Given the description of an element on the screen output the (x, y) to click on. 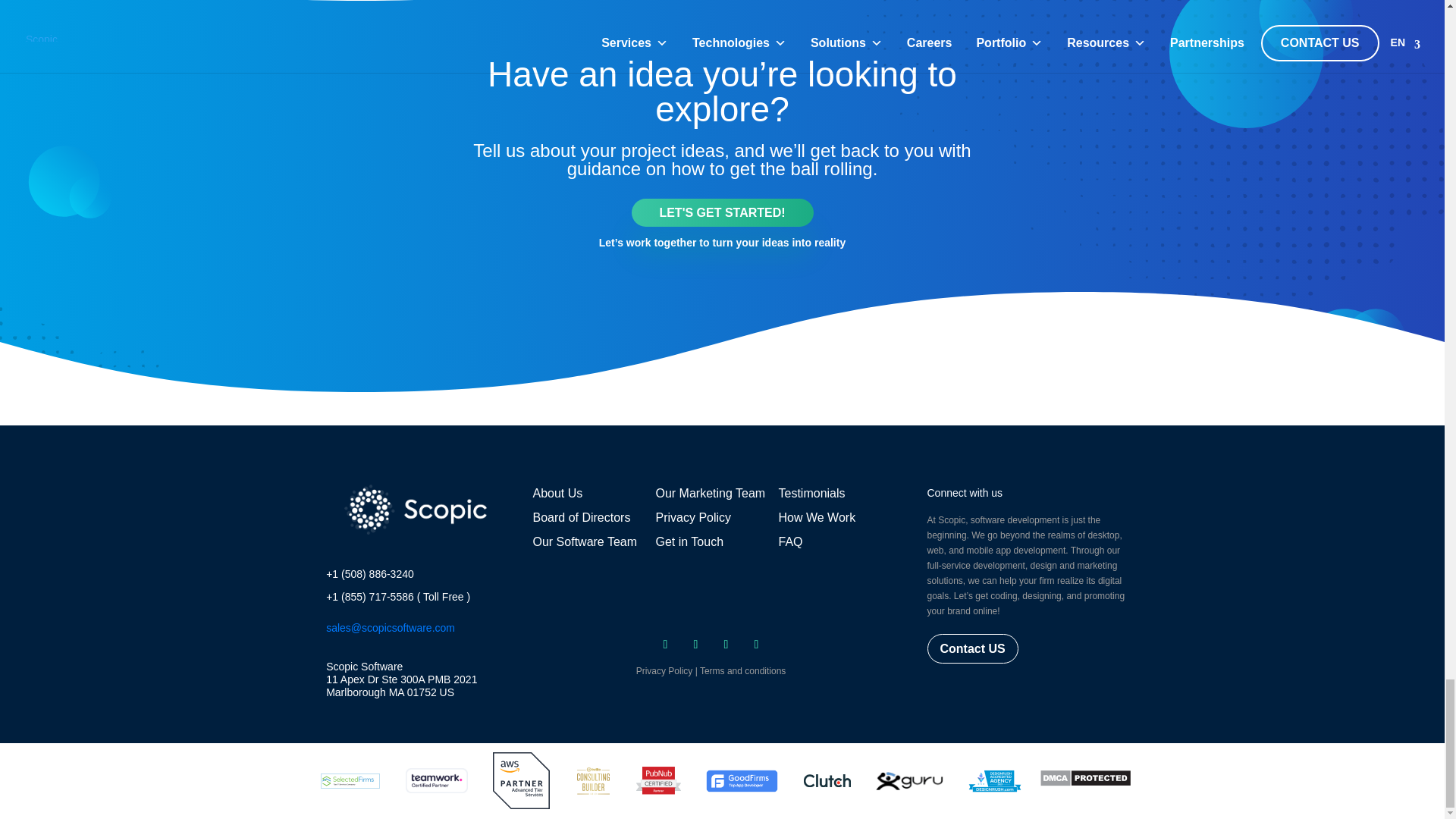
Teamwork Certified Partner (436, 780)
Follow on Instagram (726, 644)
AWS Advanced Tier (521, 780)
Follow on Facebook (665, 644)
it companies in the united states (350, 781)
Follow on LinkedIn (756, 644)
Follow on X (695, 644)
